Given the description of an element on the screen output the (x, y) to click on. 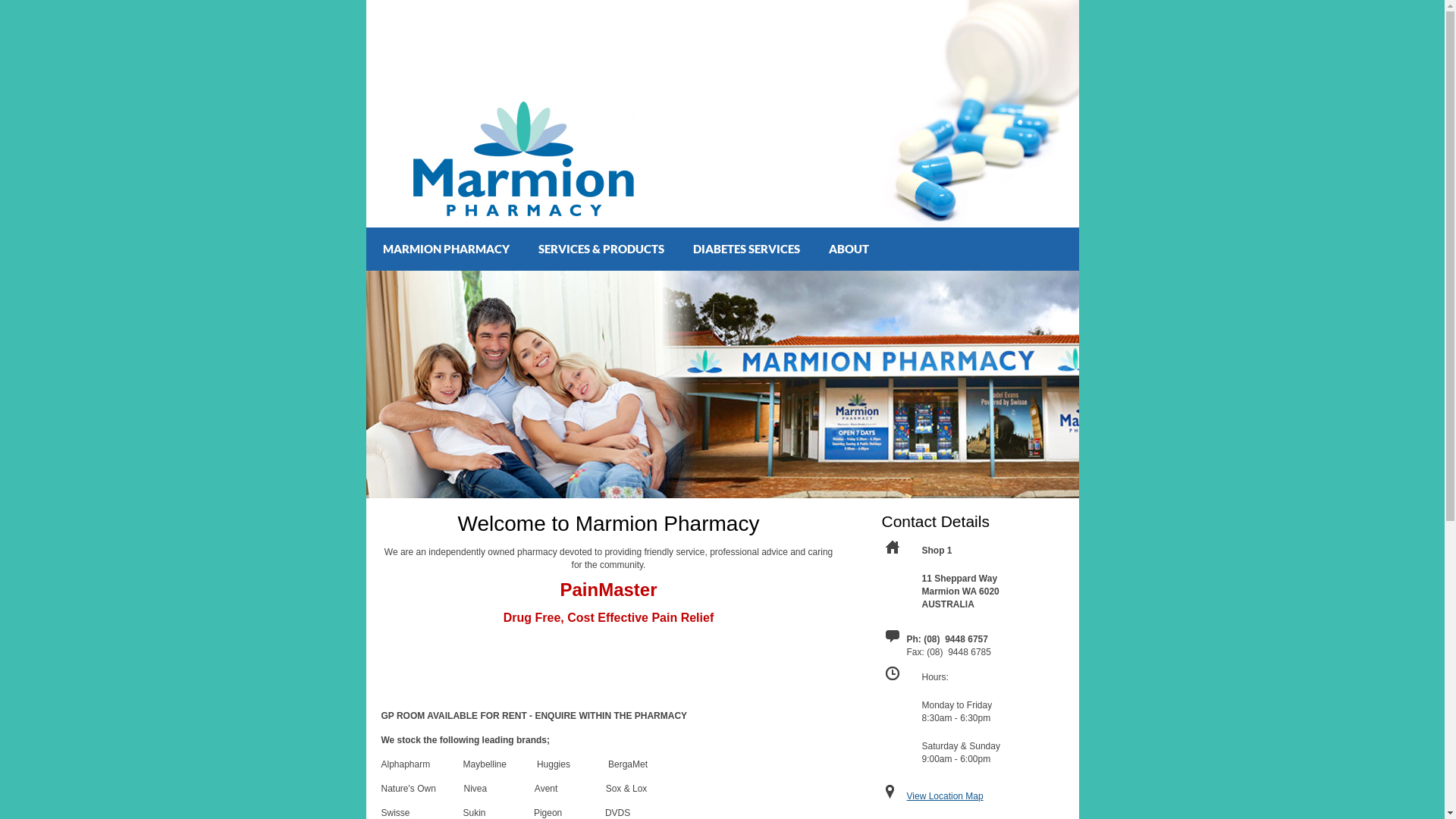
SERVICES & PRODUCTS Element type: text (598, 248)
MARMION PHARMACY Element type: text (442, 248)
DIABETES SERVICES Element type: text (744, 248)
View Location Map Element type: text (944, 795)
ABOUT Element type: text (845, 248)
